Given the description of an element on the screen output the (x, y) to click on. 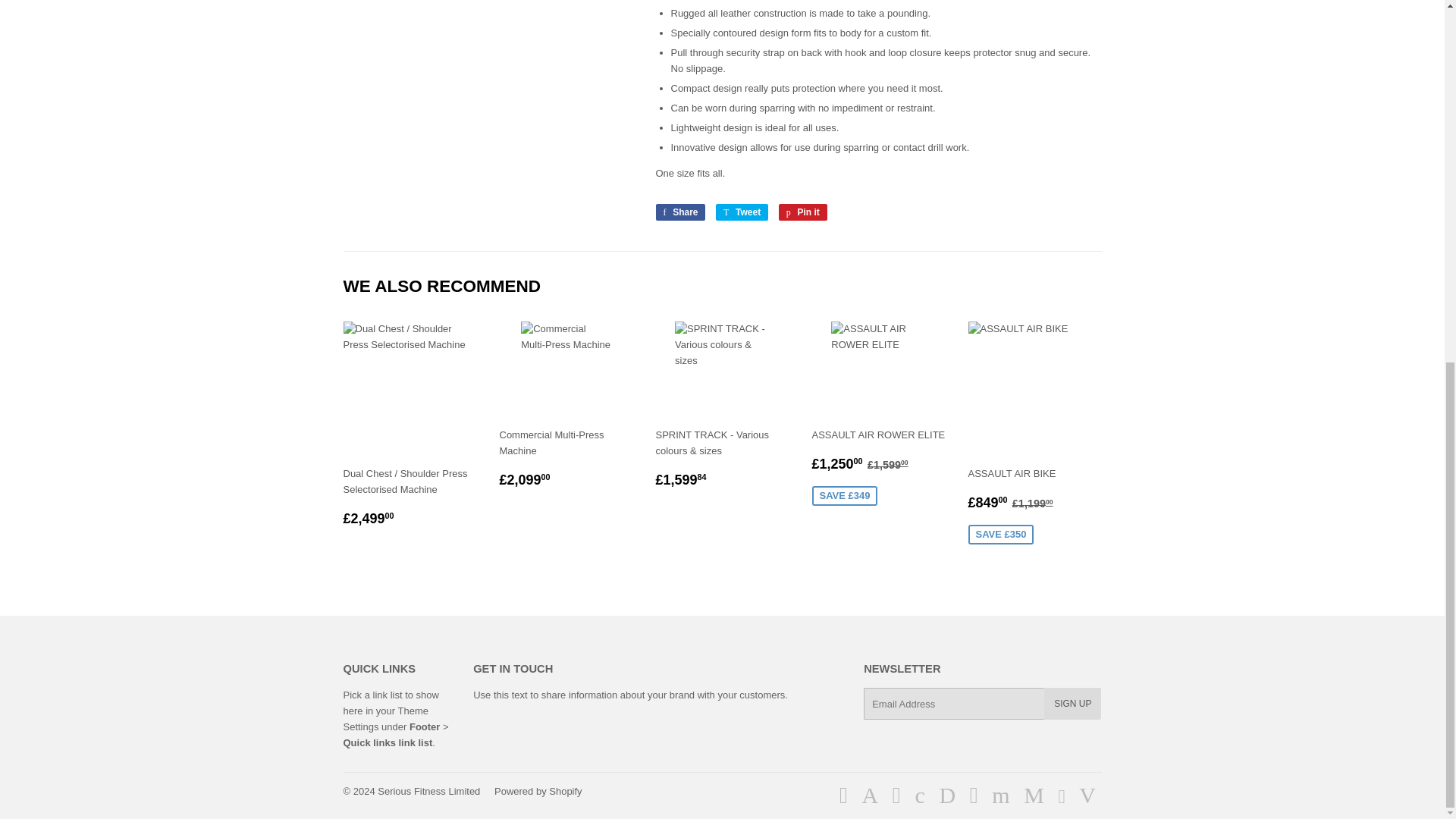
Serious Fitness Limited (428, 790)
Pin on Pinterest (802, 211)
Share on Facebook (802, 211)
SIGN UP (742, 211)
Powered by Shopify (679, 211)
Tweet on Twitter (679, 211)
Theme Settings (1071, 703)
